Given the description of an element on the screen output the (x, y) to click on. 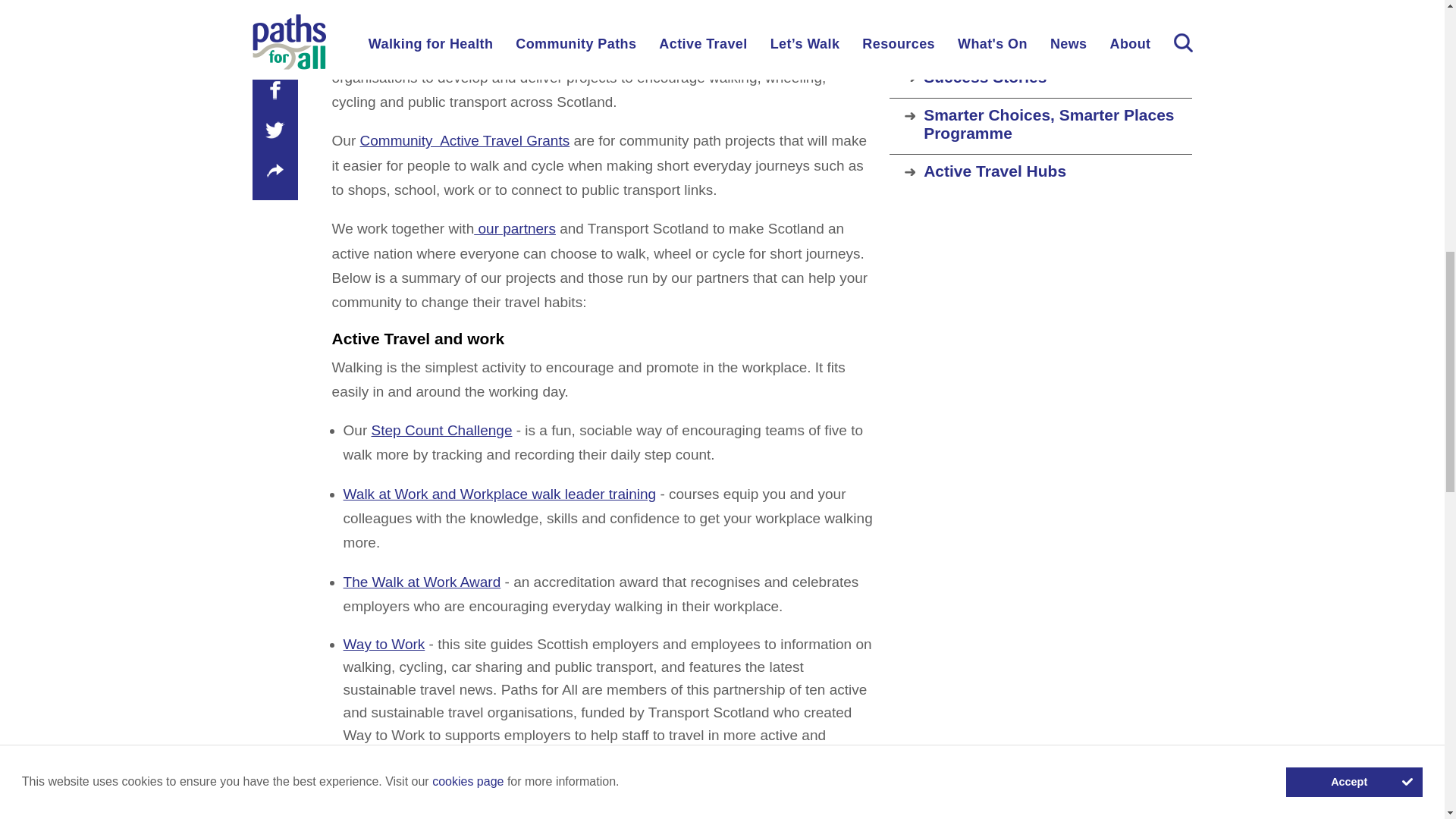
Smarter Choices, Smarter Places (468, 28)
Cycling Friendly Employer (429, 788)
our partners (515, 228)
About Active Travel (1057, 39)
Active Travel Hubs (1057, 171)
Walk at Work and Workplace walk leader training (499, 494)
Success Stories (1057, 76)
Smarter Choices, Smarter Places Programme (1057, 124)
The Walk at Work Award (421, 581)
Step Count Challenge (441, 430)
Community  Active Travel Grants (464, 140)
Way to Work (384, 643)
